Given the description of an element on the screen output the (x, y) to click on. 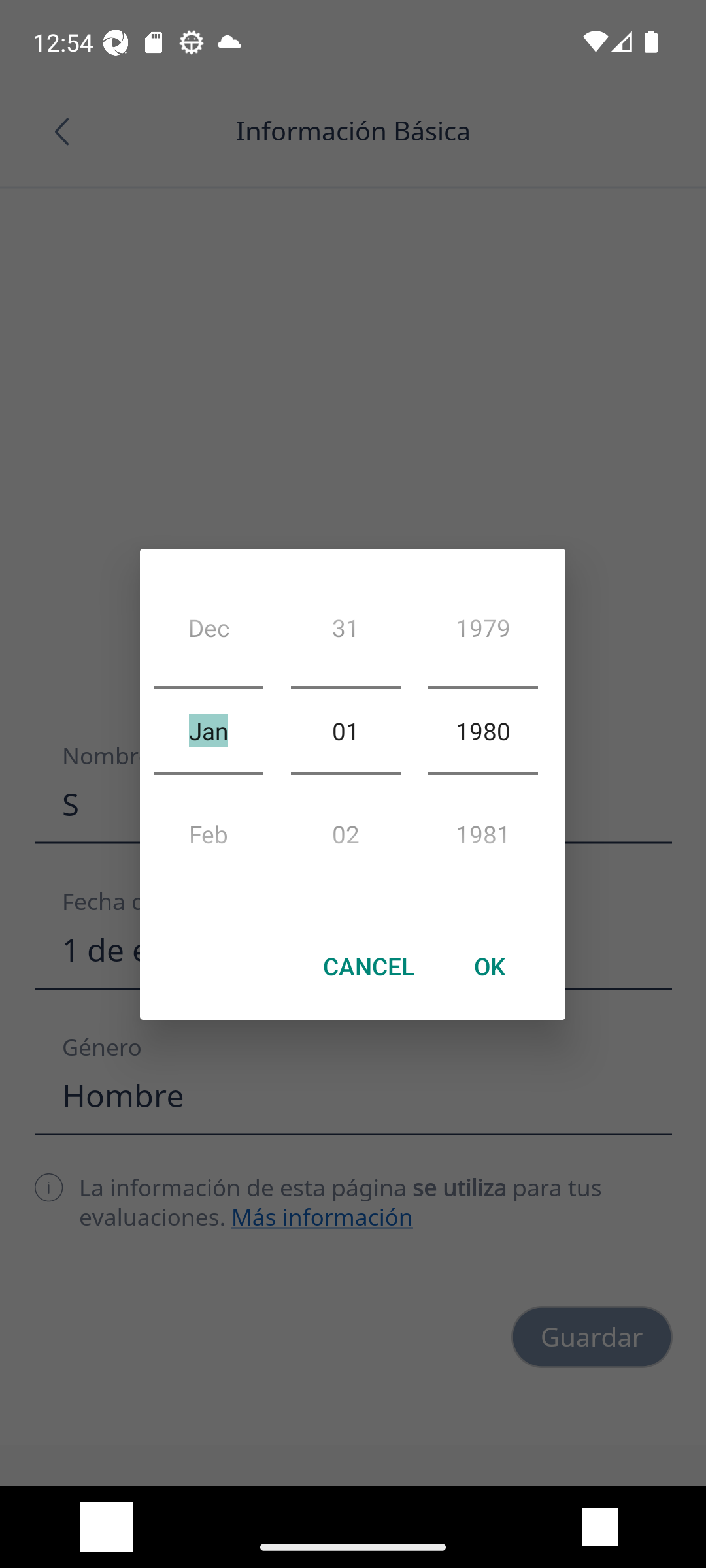
Dec (208, 633)
31 (345, 633)
1979 (482, 633)
Jan (208, 730)
01 (345, 730)
1980 (482, 730)
Feb (208, 828)
02 (345, 828)
1981 (482, 828)
CANCEL (368, 966)
OK (489, 966)
